Given the description of an element on the screen output the (x, y) to click on. 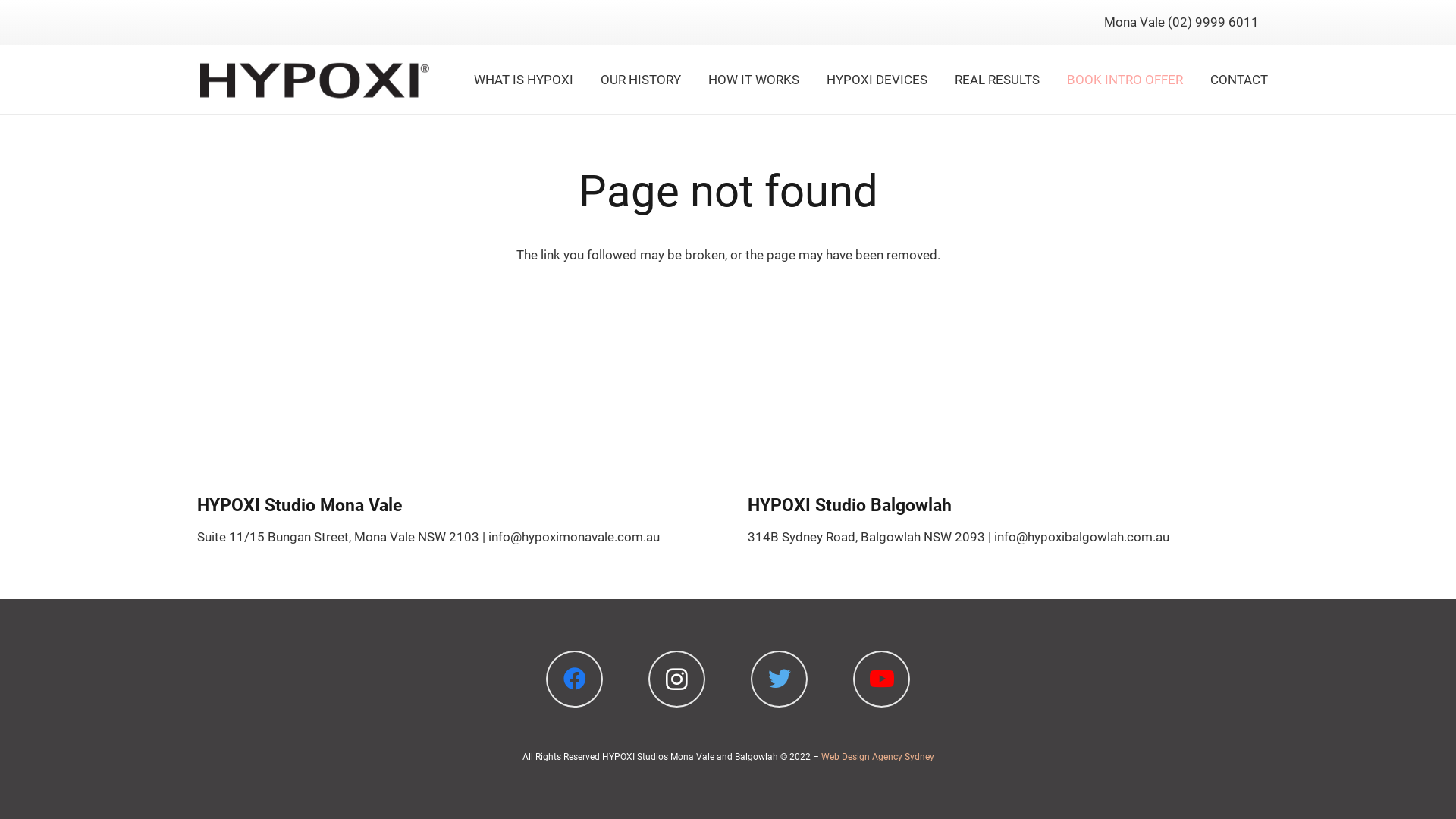
WHAT IS HYPOXI Element type: text (523, 79)
OUR HISTORY Element type: text (640, 79)
BOOK INTRO OFFER Element type: text (1124, 79)
Facebook Element type: hover (574, 678)
Twitter Element type: hover (778, 678)
Web Design Agency Sydney Element type: text (876, 756)
HOW IT WORKS Element type: text (753, 79)
YouTube Element type: hover (881, 678)
Instagram Element type: hover (676, 678)
HYPOXI DEVICES Element type: text (876, 79)
REAL RESULTS Element type: text (997, 79)
CONTACT Element type: text (1238, 79)
